Given the description of an element on the screen output the (x, y) to click on. 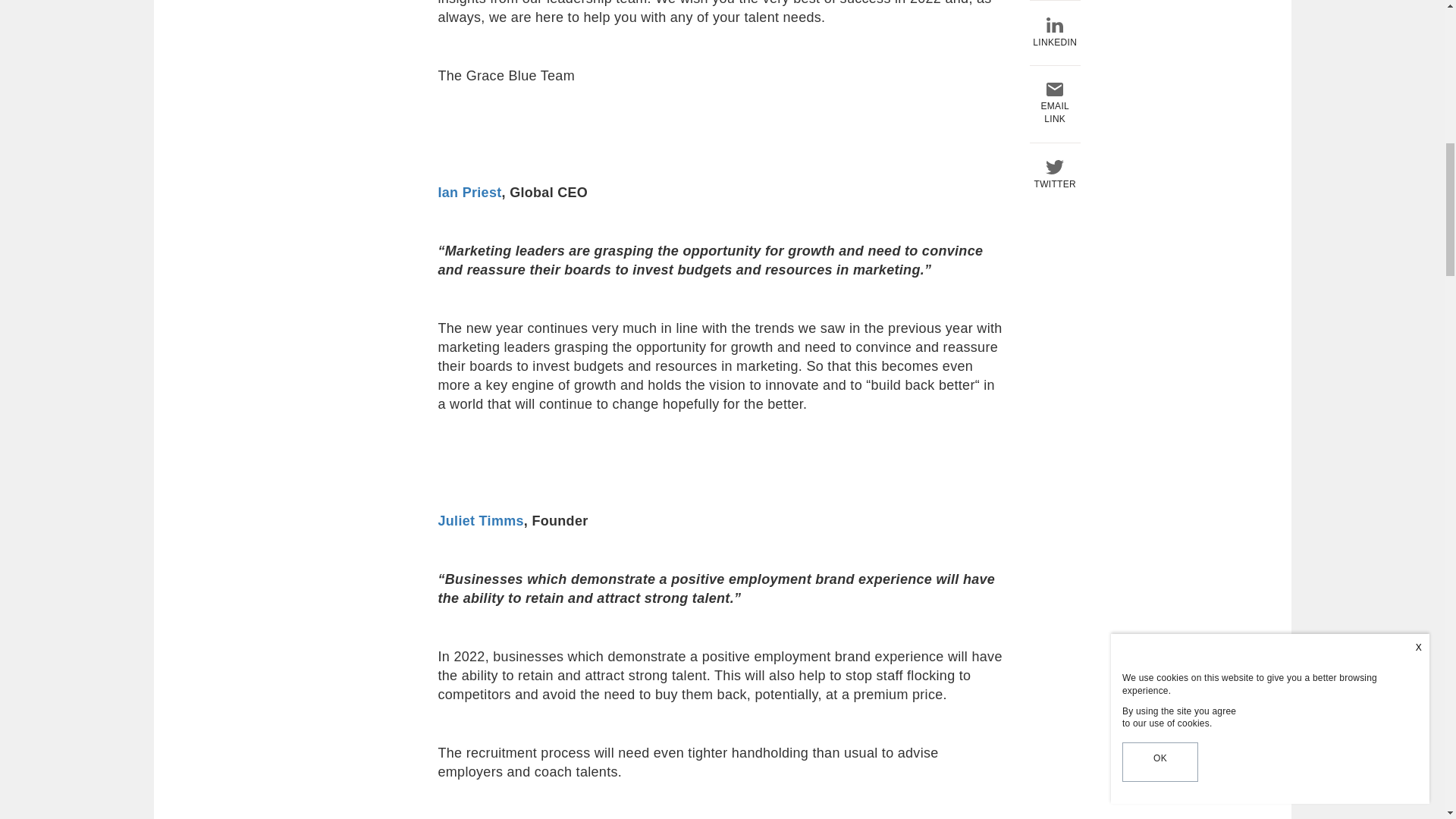
Ian Priest (470, 192)
TWITTER (1054, 1)
Juliet Timms (481, 520)
